Given the description of an element on the screen output the (x, y) to click on. 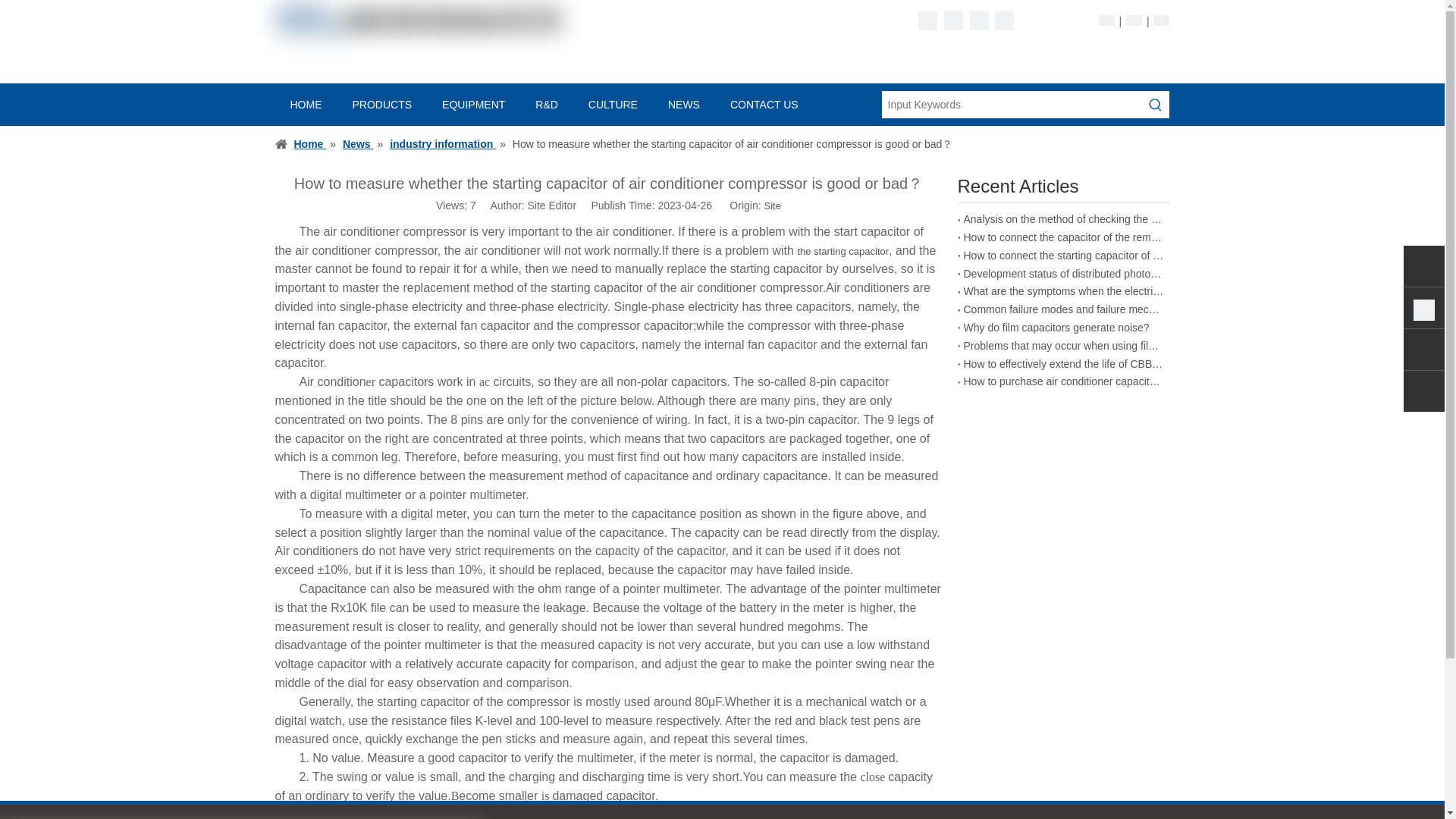
How to effectively extend the life of CBB capacitors (1062, 364)
Twitter (978, 20)
Youtube (1003, 20)
EQUIPMENT (472, 103)
Analysis on the method of checking the compressor capacitor (1062, 219)
Common failure modes and failure mechanisms of capacitors (1062, 310)
Why do film capacitors generate noise? (1062, 328)
CONTACT US (763, 103)
Linkedin (952, 20)
NEWS (683, 103)
Facebook (927, 20)
